Given the description of an element on the screen output the (x, y) to click on. 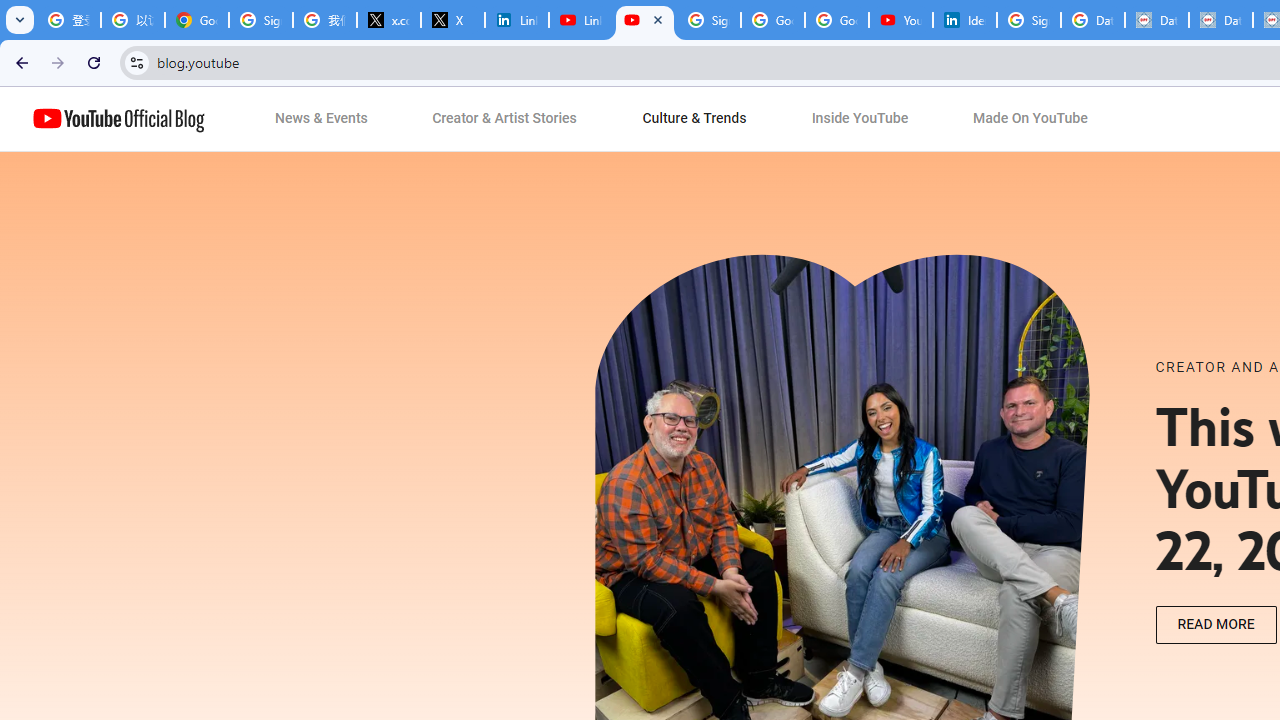
Made On YouTube (1030, 119)
Data Privacy Framework (1157, 20)
LinkedIn Privacy Policy (517, 20)
Data Privacy Framework (1221, 20)
X (453, 20)
Inside YouTube (859, 119)
News & Events (321, 119)
Culture & Trends (694, 119)
